Given the description of an element on the screen output the (x, y) to click on. 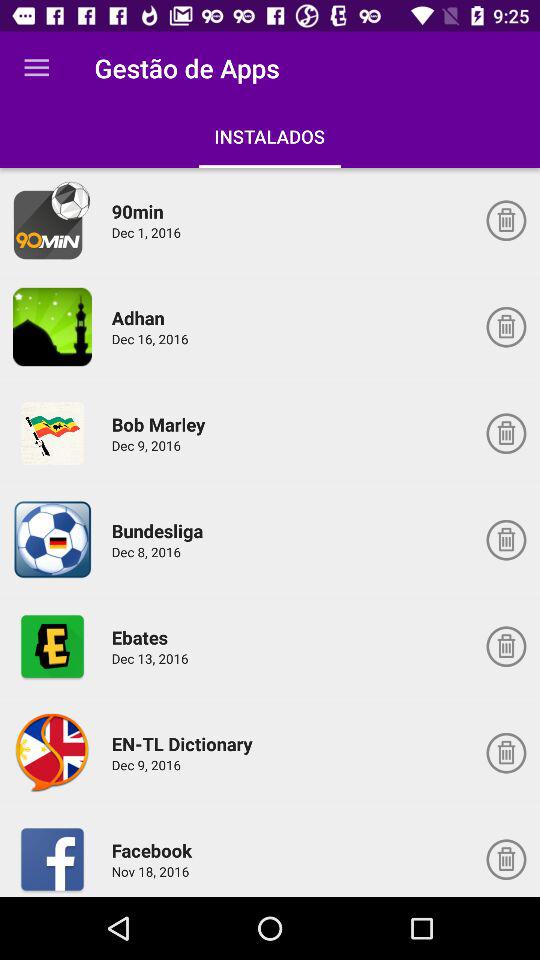
turn off item below dec 8, 2016 (142, 637)
